Given the description of an element on the screen output the (x, y) to click on. 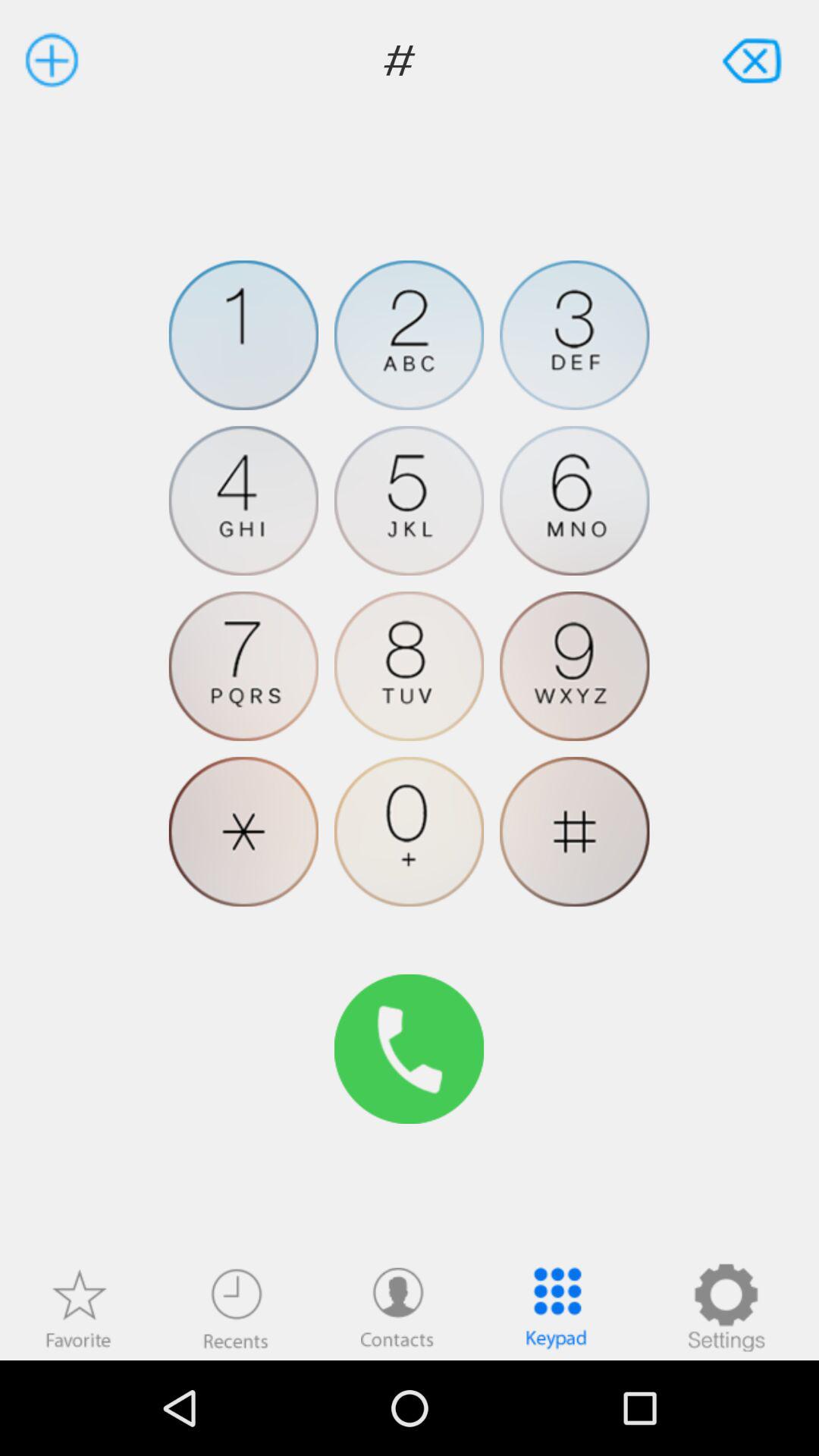
enter seven (243, 666)
